Given the description of an element on the screen output the (x, y) to click on. 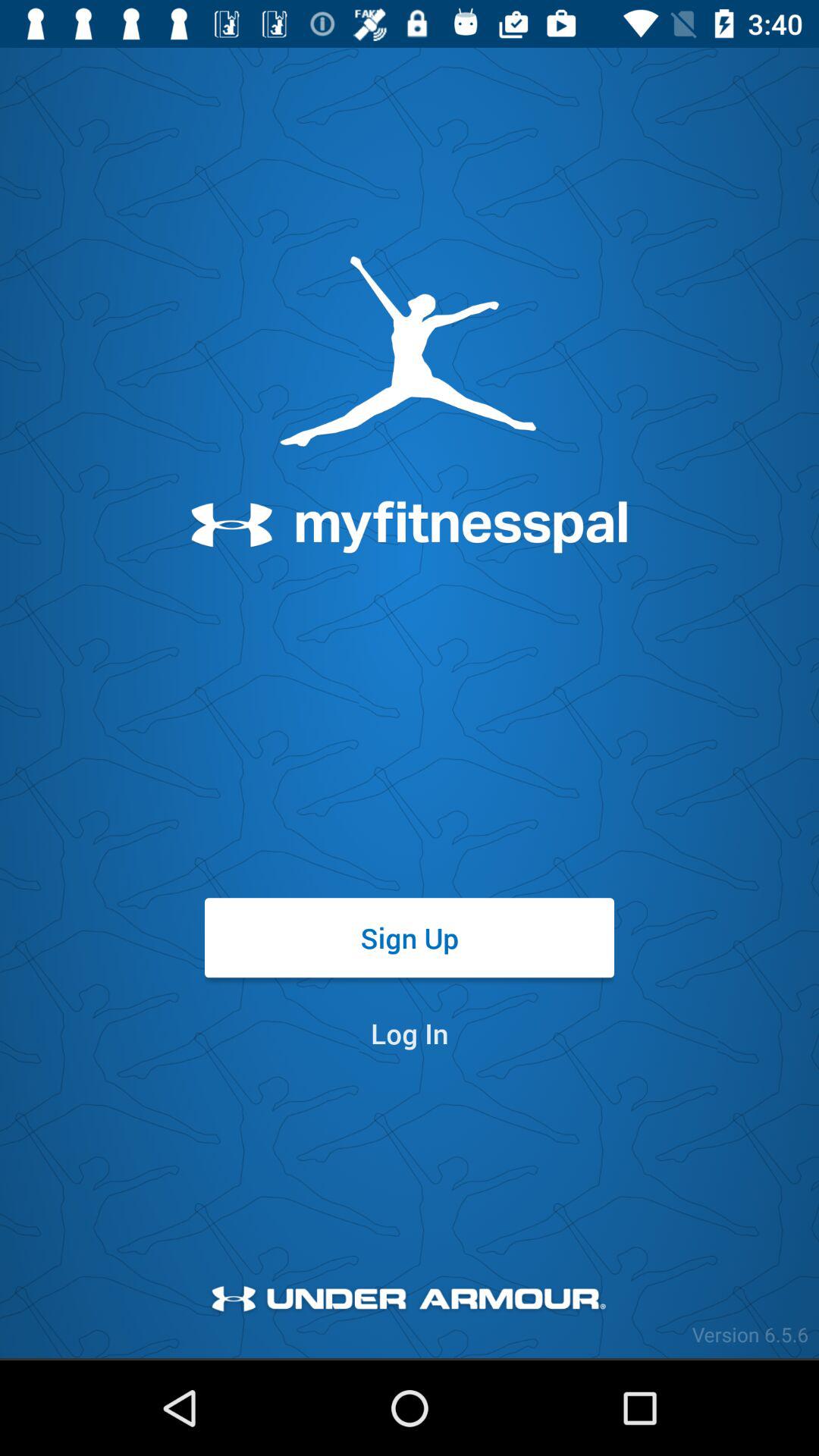
open item below sign up item (409, 1033)
